Given the description of an element on the screen output the (x, y) to click on. 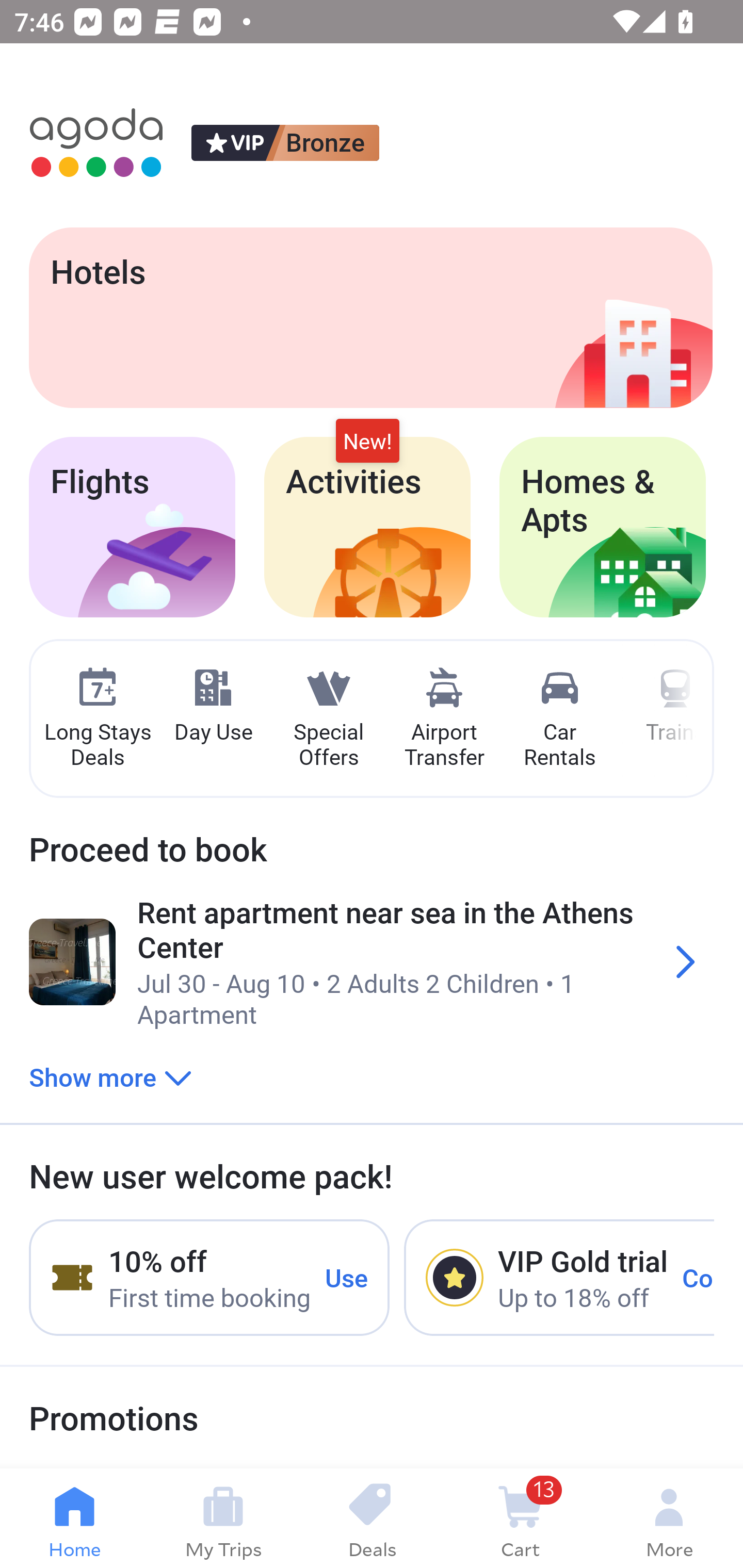
Hotels (370, 317)
New! (367, 441)
Flights (131, 527)
Activities (367, 527)
Homes & Apts (602, 527)
Day Use (213, 706)
Long Stays Deals (97, 718)
Special Offers (328, 718)
Airport Transfer (444, 718)
Car Rentals (559, 718)
Show more (110, 1076)
Use (346, 1277)
Home (74, 1518)
My Trips (222, 1518)
Deals (371, 1518)
13 Cart (519, 1518)
More (668, 1518)
